Given the description of an element on the screen output the (x, y) to click on. 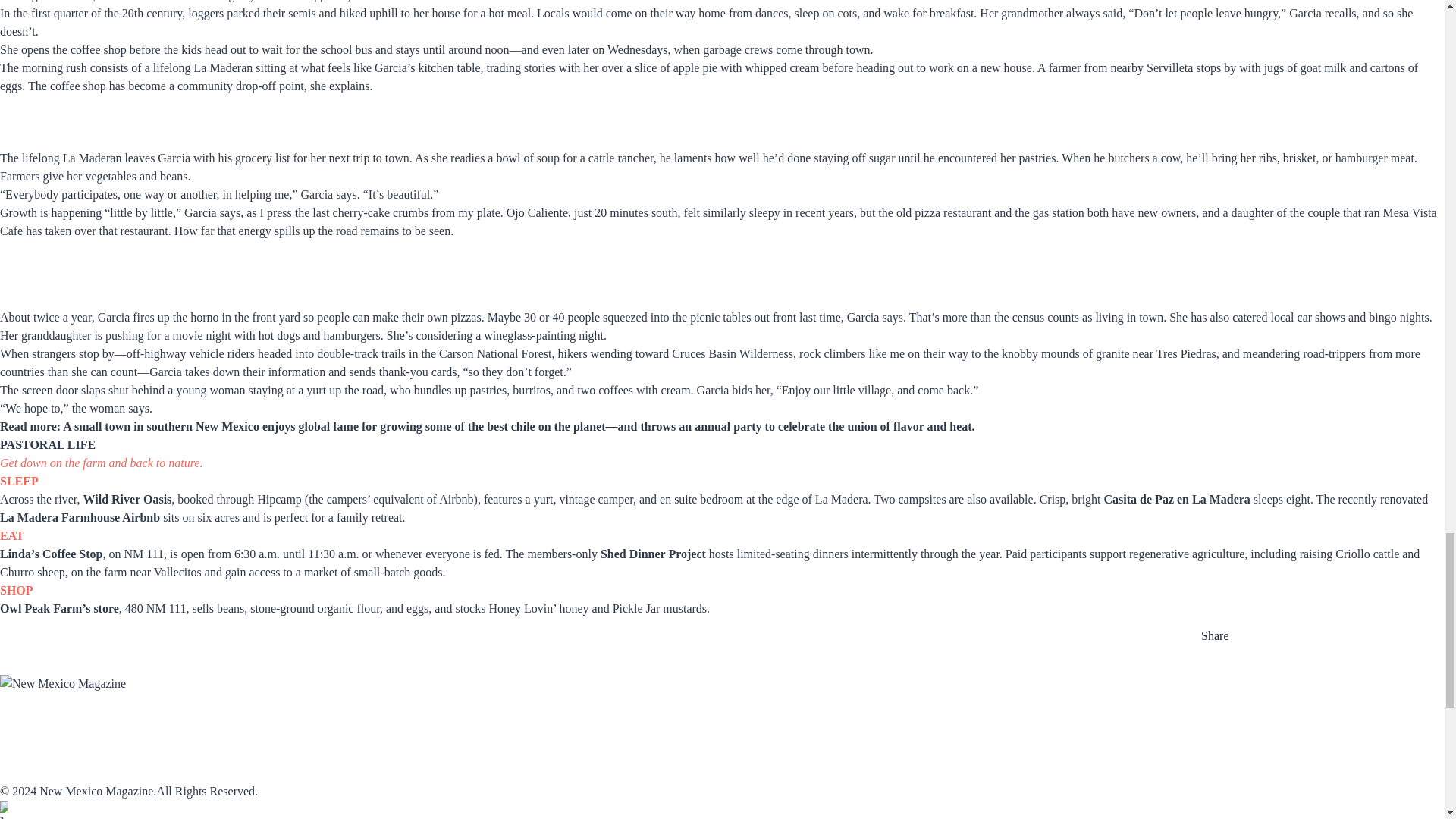
Contact Us (32, 772)
Store (598, 722)
About Us (25, 756)
App (154, 722)
Advertise (464, 722)
Privacy Policy (333, 772)
Subscribe (28, 722)
Archive (313, 722)
Sitemap (312, 756)
